Given the description of an element on the screen output the (x, y) to click on. 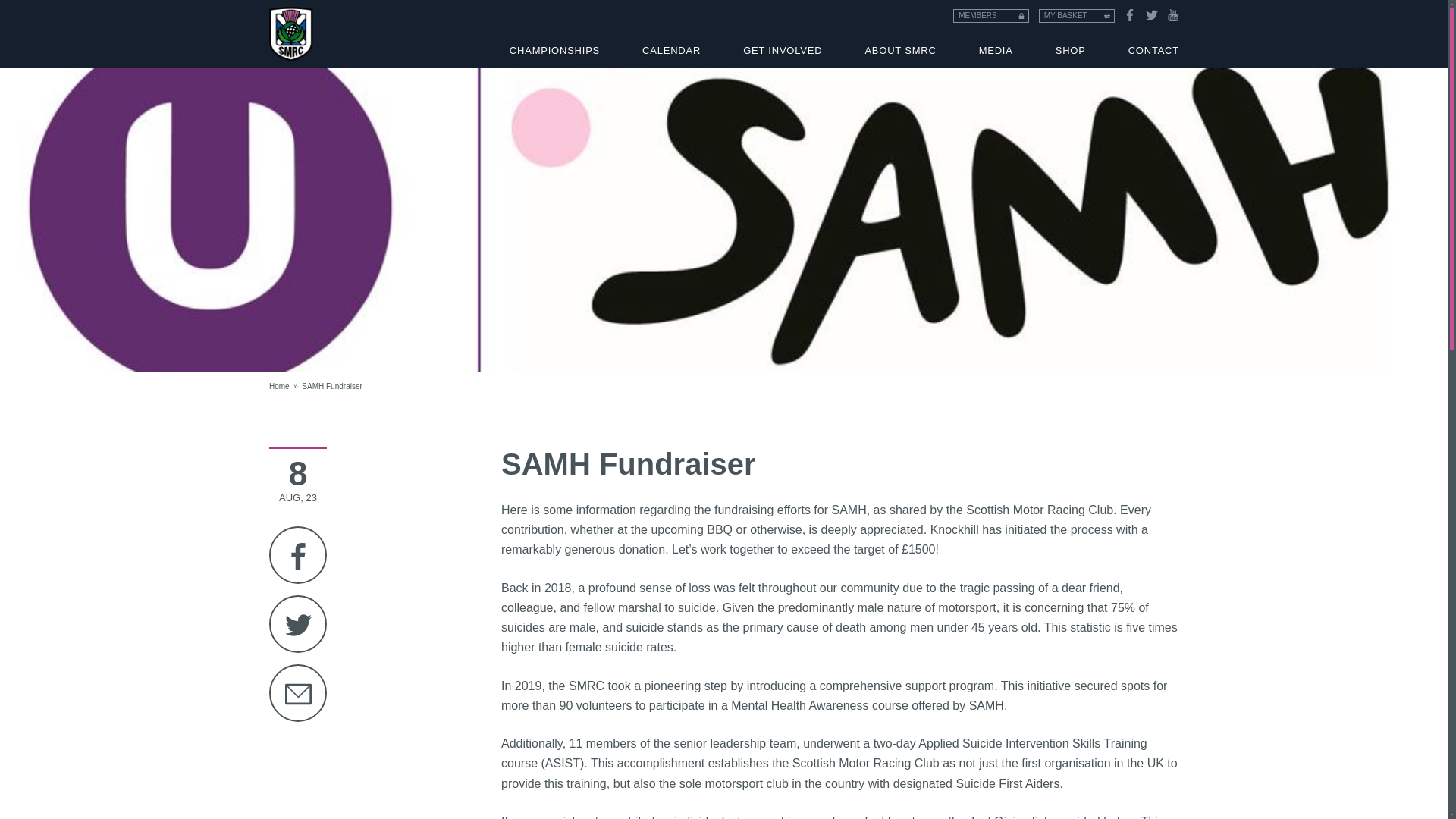
ESPORTS IRACING CHAMPIONSHIP (1040, 28)
Home (279, 386)
CALENDAR (671, 49)
R53 MINI COOPER CUP (723, 28)
SHOP (1069, 49)
GALLERY (1043, 22)
MEDIA (995, 49)
Share on Twitter (297, 623)
GET INVOLVED (782, 49)
TEAM (723, 27)
SCOTTISH C1 CUP (723, 5)
youtube (1173, 15)
facebook (1129, 15)
Share on Facebook (297, 554)
